Given the description of an element on the screen output the (x, y) to click on. 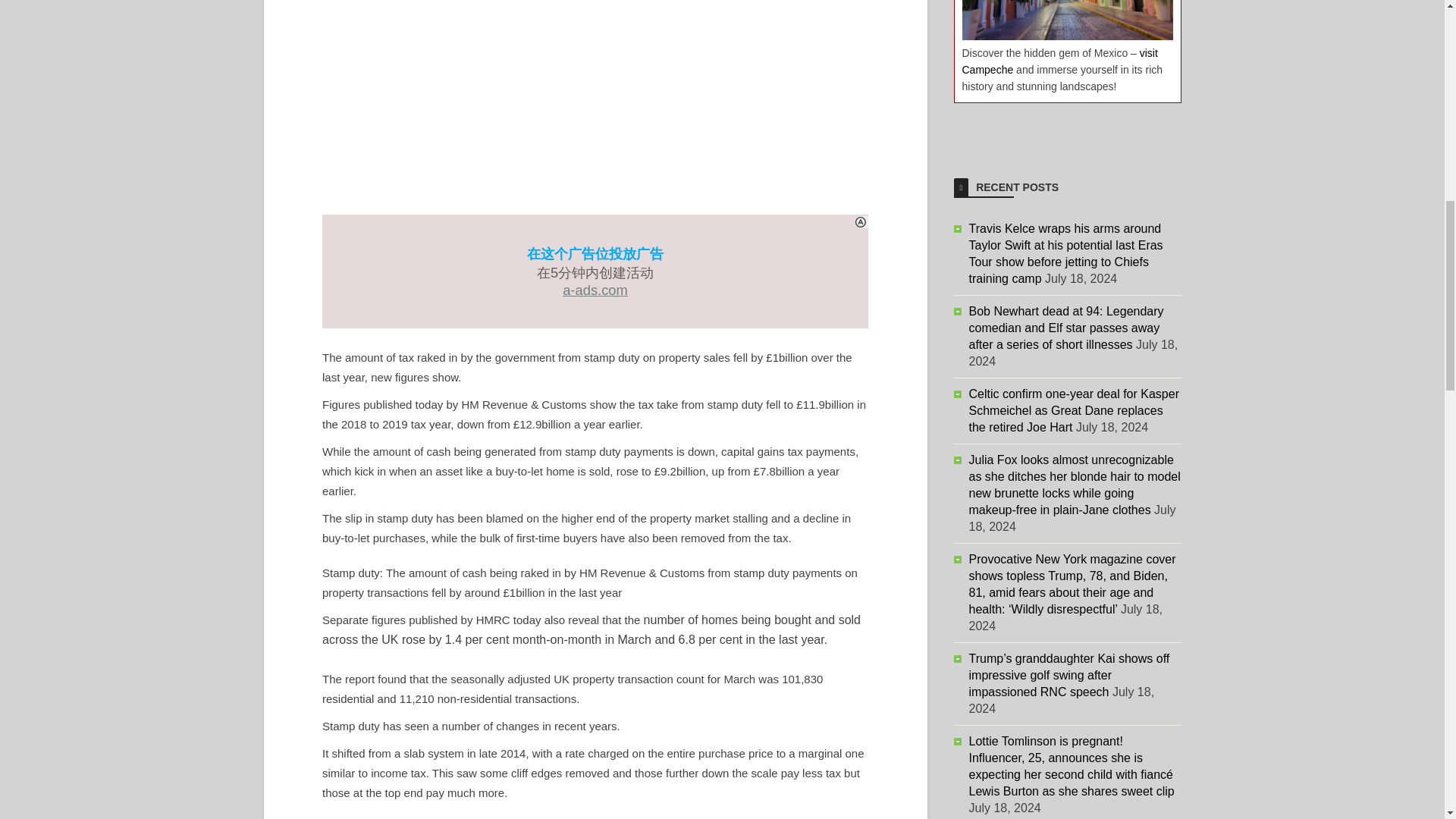
visit Campeche (1058, 61)
